Given the description of an element on the screen output the (x, y) to click on. 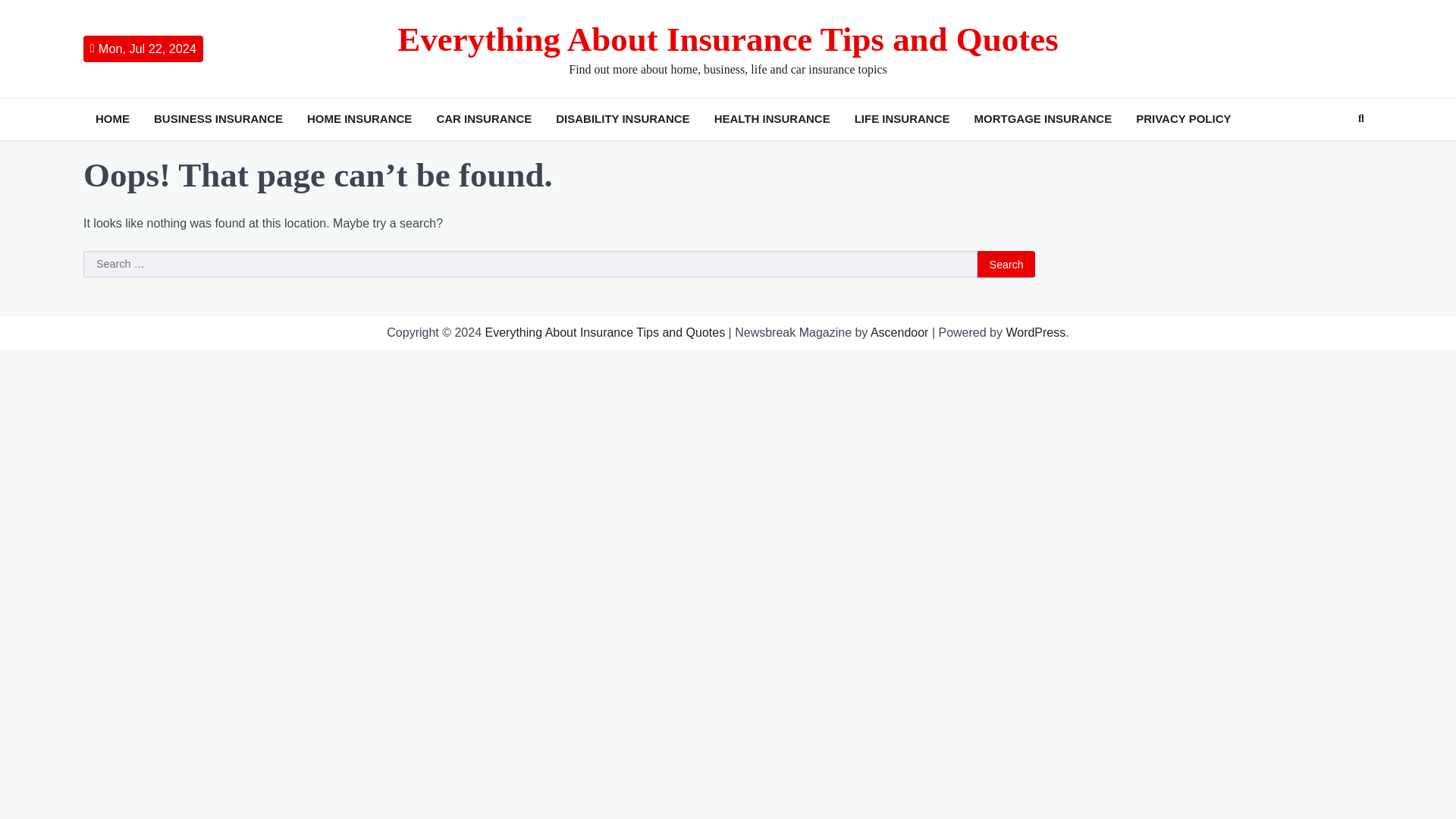
Everything About Insurance Tips and Quotes (727, 39)
Search (1005, 264)
LIFE INSURANCE (902, 118)
Ascendoor (899, 332)
PRIVACY POLICY (1182, 118)
WordPress (1035, 332)
Everything About Insurance Tips and Quotes (604, 332)
HOME (111, 118)
CAR INSURANCE (483, 118)
Search (1005, 264)
DISABILITY INSURANCE (622, 118)
Search (1333, 154)
MORTGAGE INSURANCE (1043, 118)
Search (1361, 118)
Search (1005, 264)
